Given the description of an element on the screen output the (x, y) to click on. 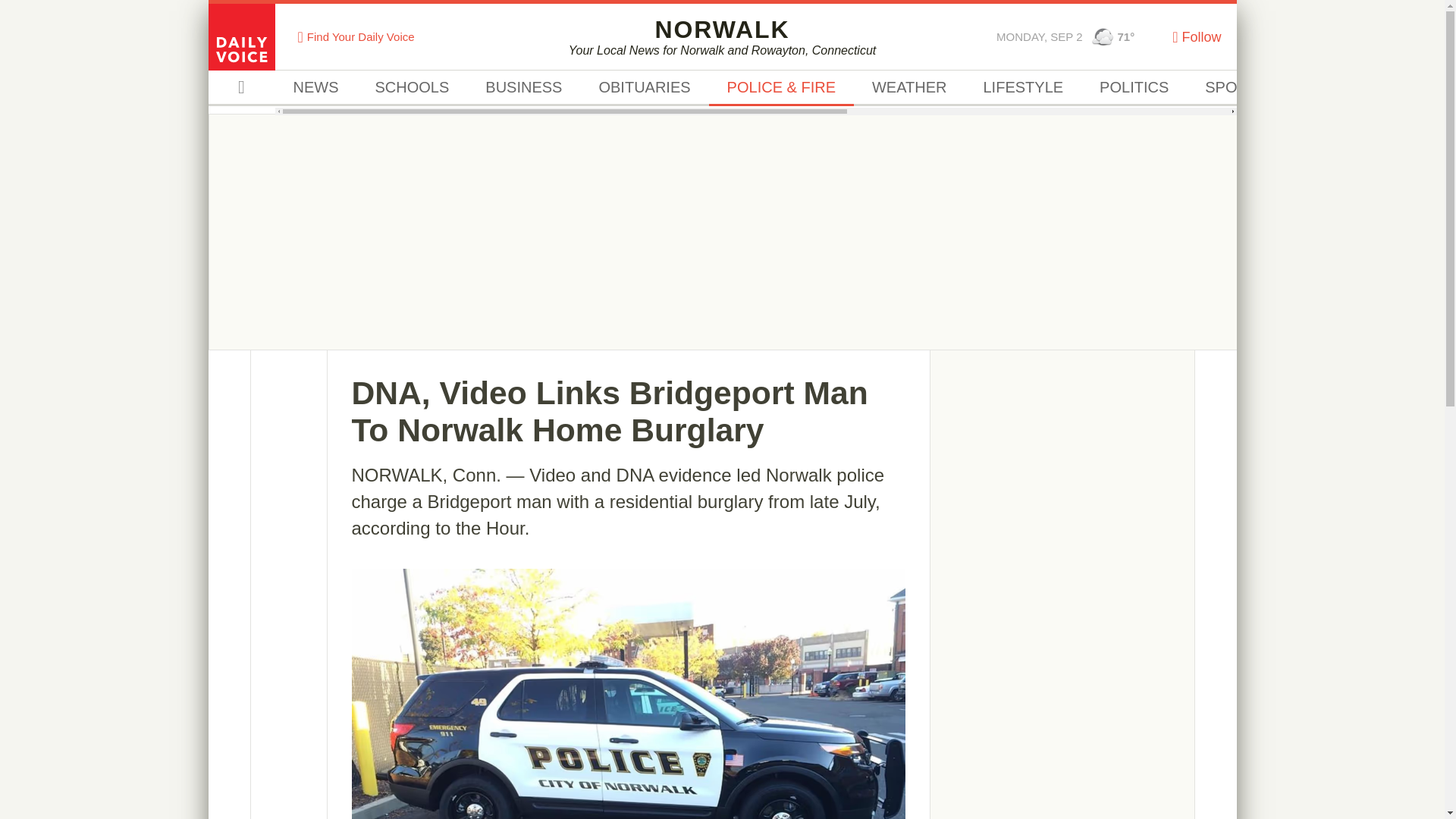
SPORTS (1235, 88)
TRAFFIC (1335, 88)
BUSINESS (523, 88)
OBITUARIES (643, 88)
Mostly Cloudy (1102, 36)
LIFESTYLE (1022, 88)
POLITICS (1133, 88)
WEATHER (909, 88)
NEWS (315, 88)
